Given the description of an element on the screen output the (x, y) to click on. 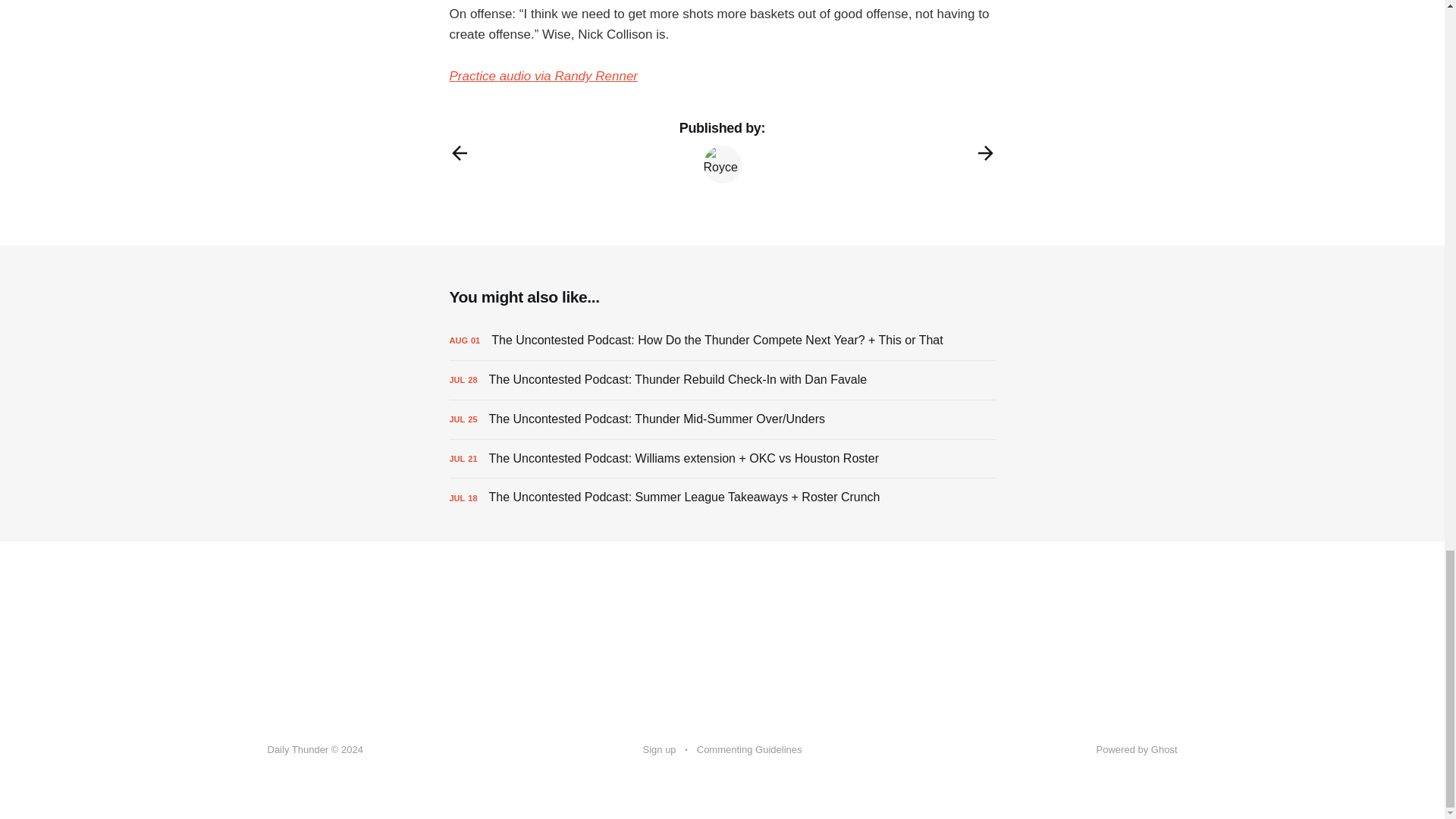
Practice audio via Randy Renner (542, 75)
Powered by Ghost (1136, 749)
Sign up (660, 750)
Commenting Guidelines (749, 750)
